Given the description of an element on the screen output the (x, y) to click on. 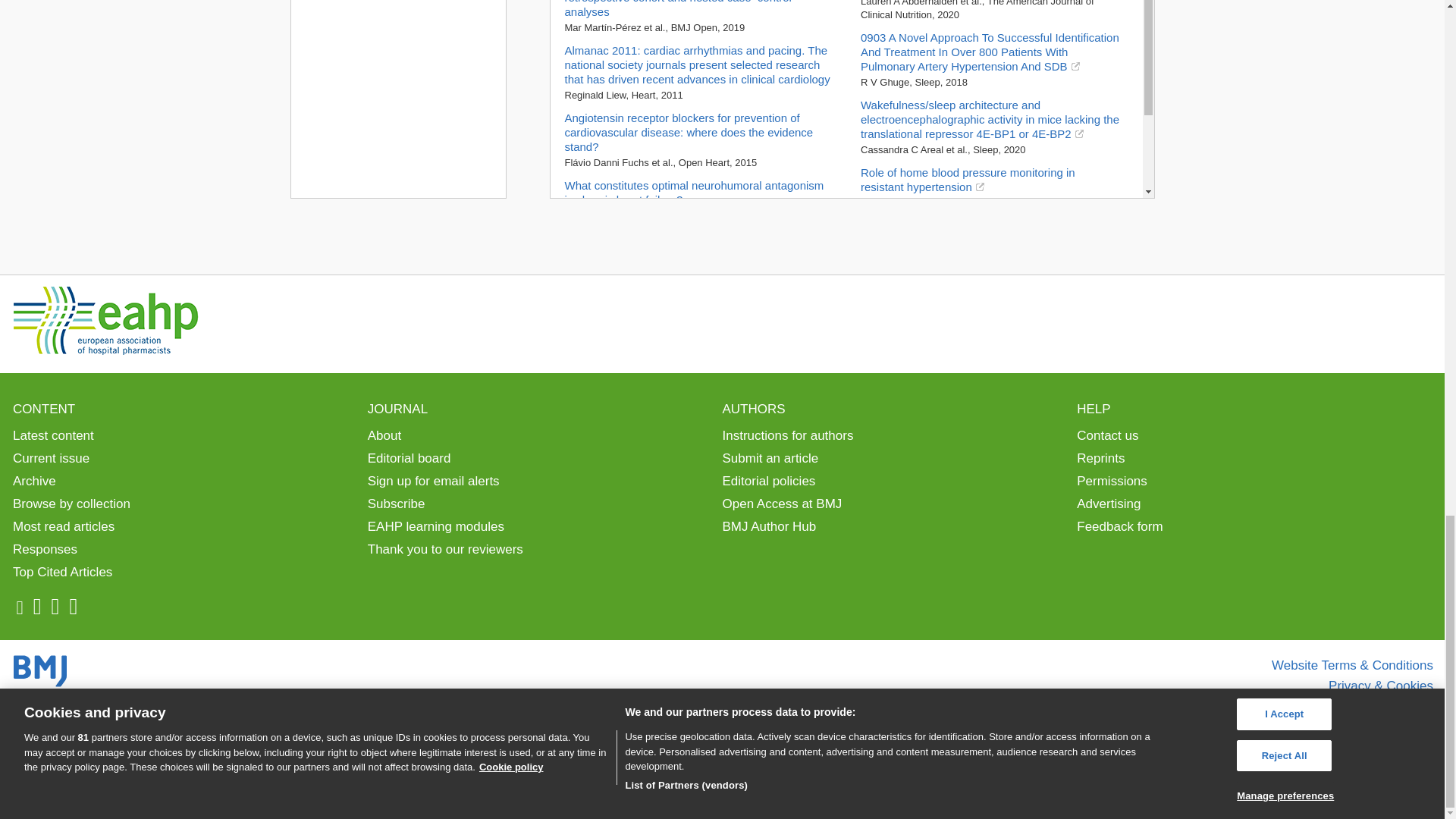
careers widget (397, 99)
